Given the description of an element on the screen output the (x, y) to click on. 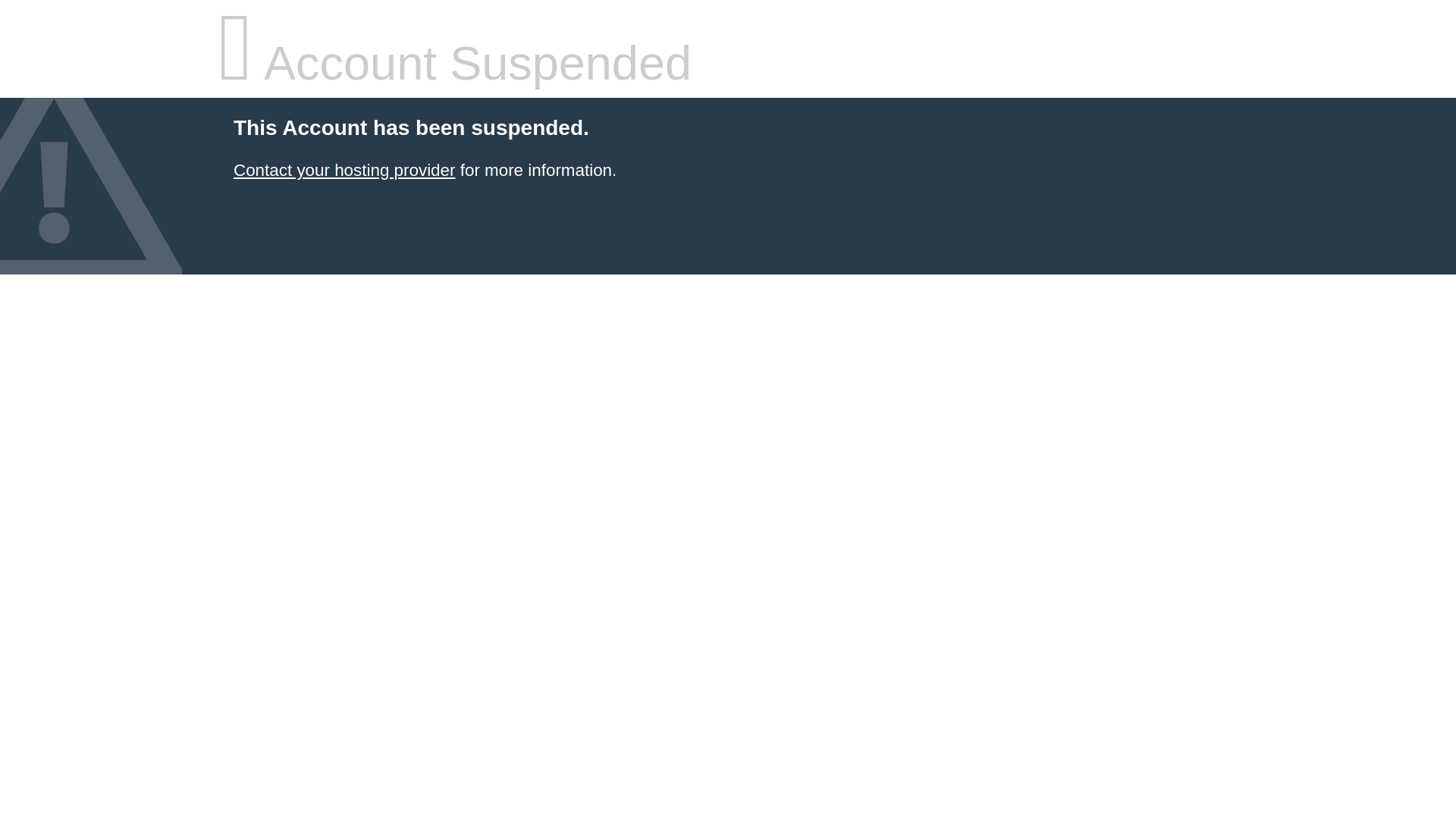
Contact your hosting provider (343, 169)
